Given the description of an element on the screen output the (x, y) to click on. 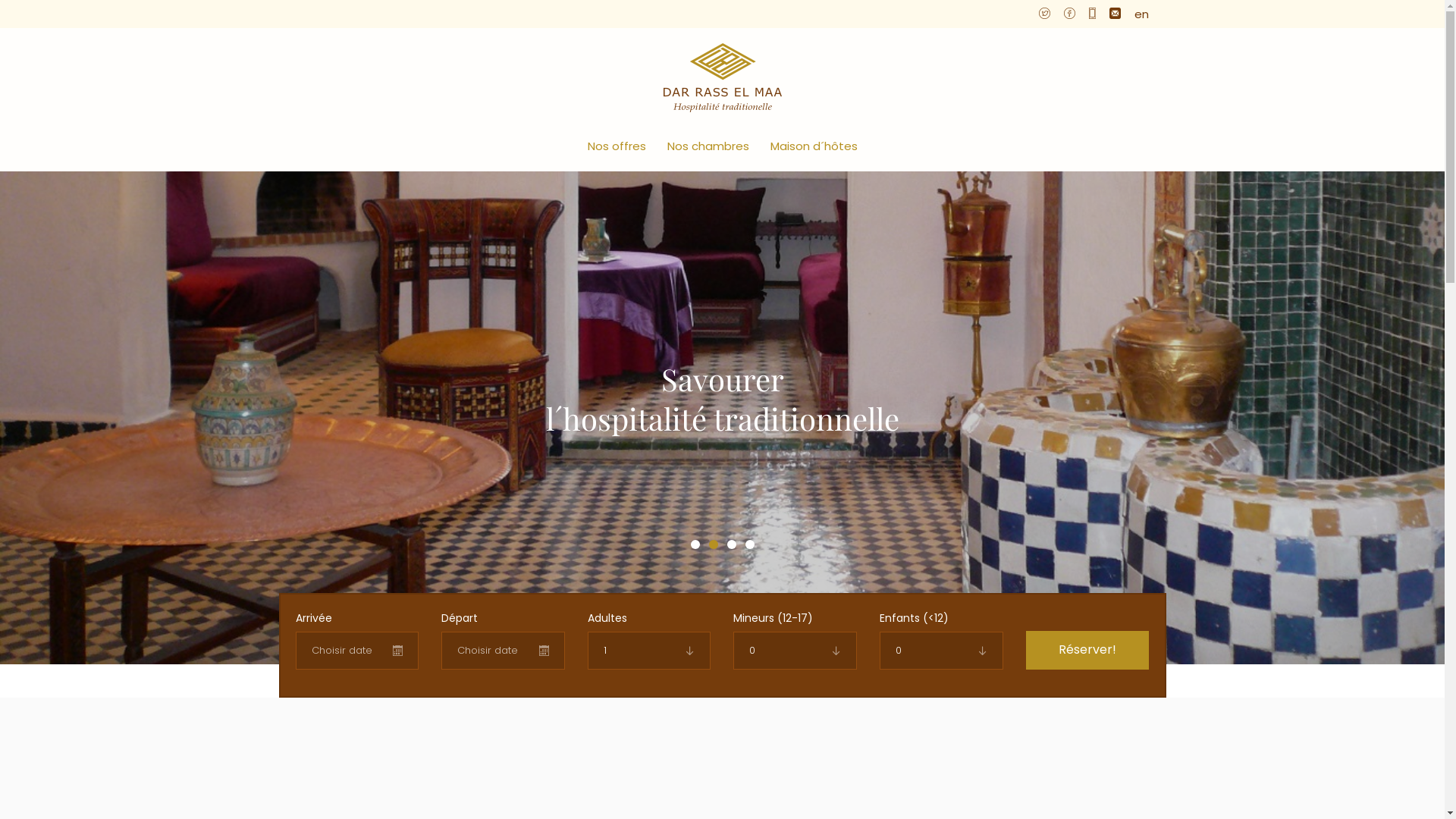
2 Element type: text (712, 544)
1 Element type: text (694, 544)
en Element type: text (1141, 14)
Nos chambres Element type: text (708, 145)
Suivez-nous sur Twitter Element type: hover (1044, 14)
Suivez-nous sur Faebook Element type: hover (1069, 14)
+212 539 98 80 80 Element type: hover (1092, 14)
Nos offres Element type: text (615, 145)
3 Element type: text (730, 544)
4 Element type: text (748, 544)
info@chefchaouen.ch Element type: hover (1115, 14)
